Given the description of an element on the screen output the (x, y) to click on. 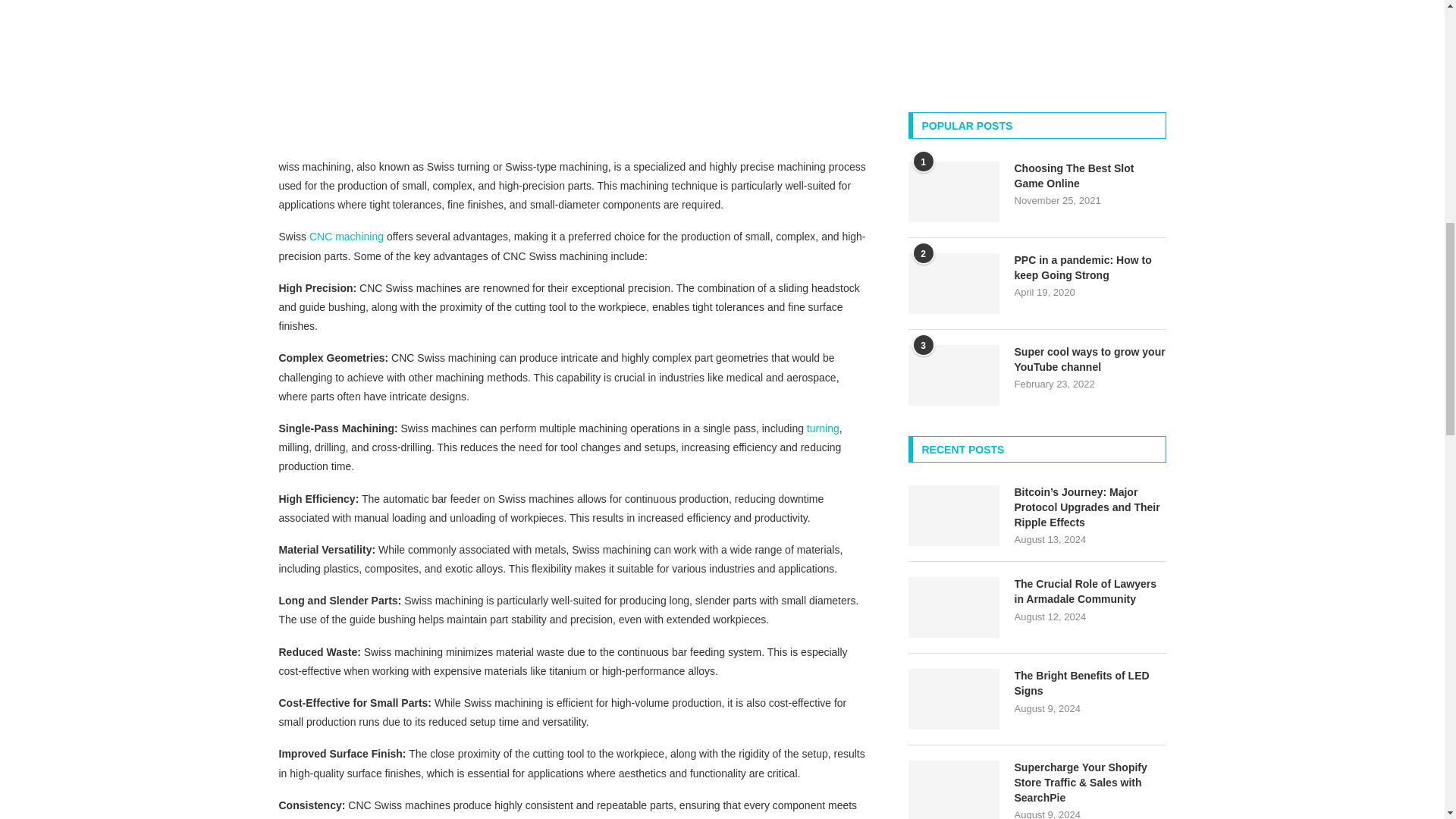
turning (823, 428)
CNC machining (346, 236)
Choosing The Best Slot Game Online (953, 191)
Advantages of CNC Swiss machining (574, 69)
Choosing The Best Slot Game Online (1090, 175)
